Given the description of an element on the screen output the (x, y) to click on. 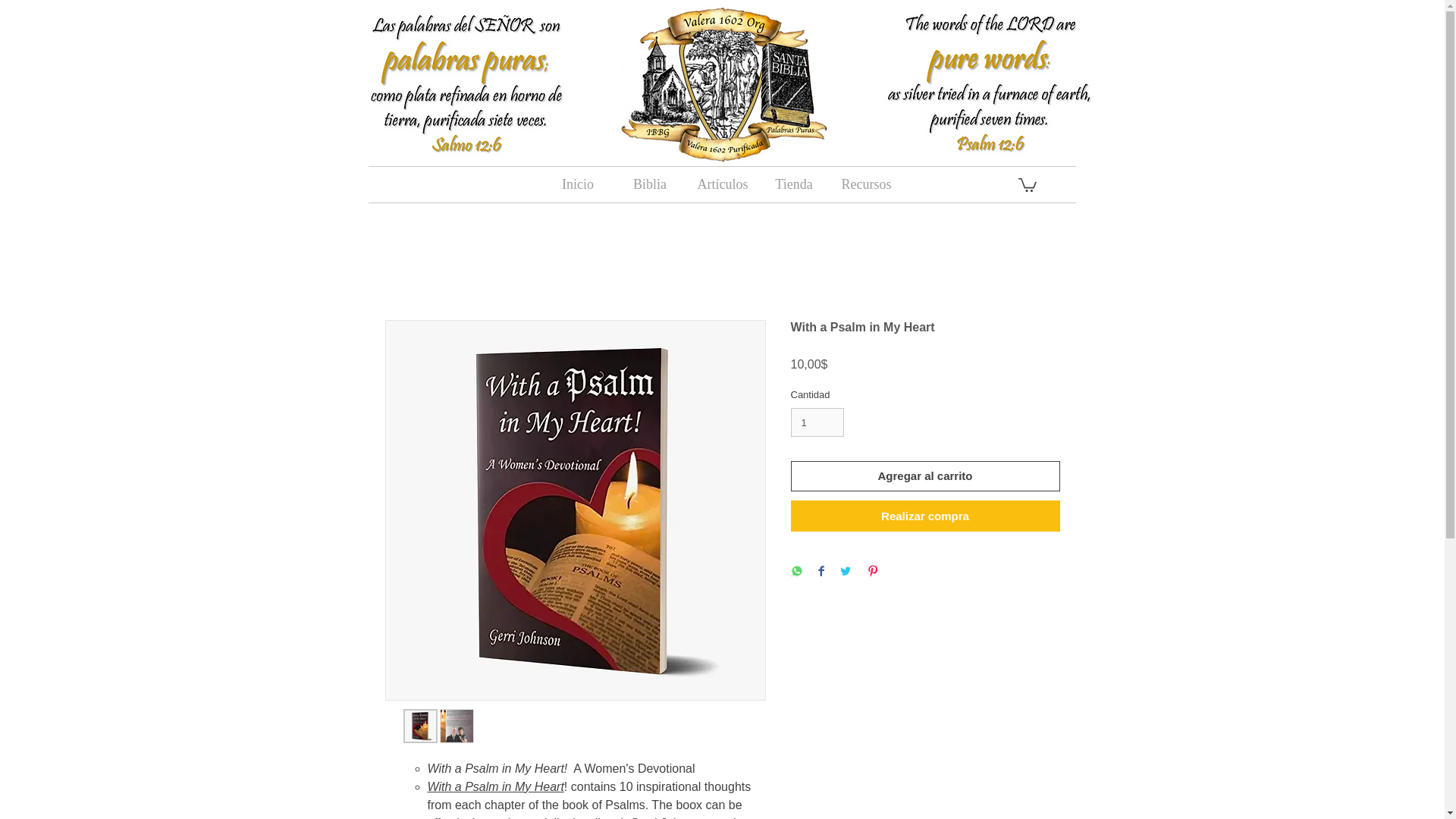
Biblia (649, 184)
Tienda (793, 184)
Realizar compra (924, 515)
Agregar al carrito (924, 476)
Inicio (576, 184)
Recursos (865, 184)
1 (817, 421)
